Given the description of an element on the screen output the (x, y) to click on. 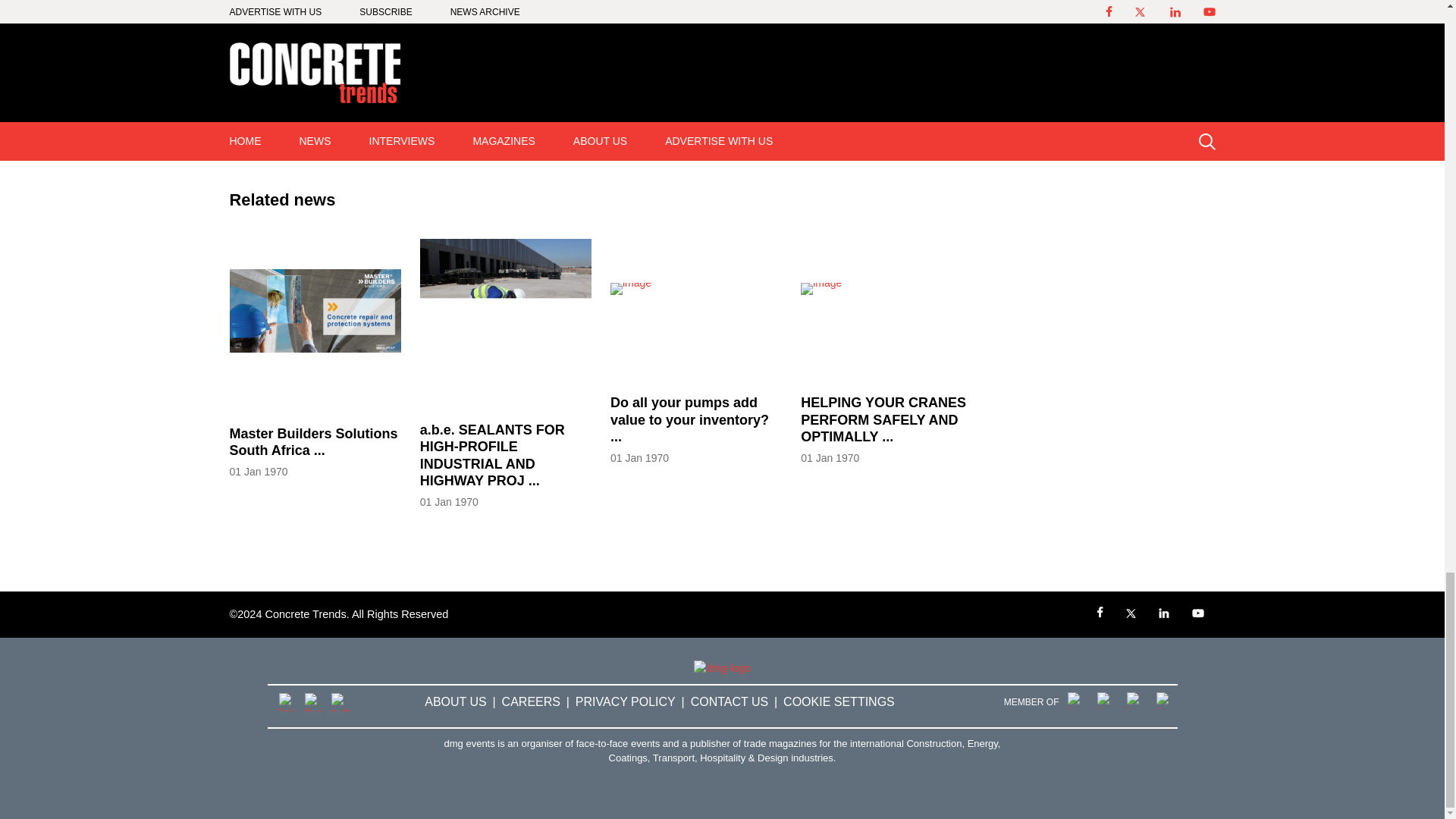
repair (405, 135)
Inspection (262, 135)
Master Builders Solutions South Africa ... (314, 451)
HELPING YOUR CRANES PERFORM SAFELY AND OPTIMALLY ... (886, 428)
Skyriders Access Specialists (508, 135)
maintenance (338, 135)
Do all your pumps add value to your inventory? ... (695, 428)
